Given the description of an element on the screen output the (x, y) to click on. 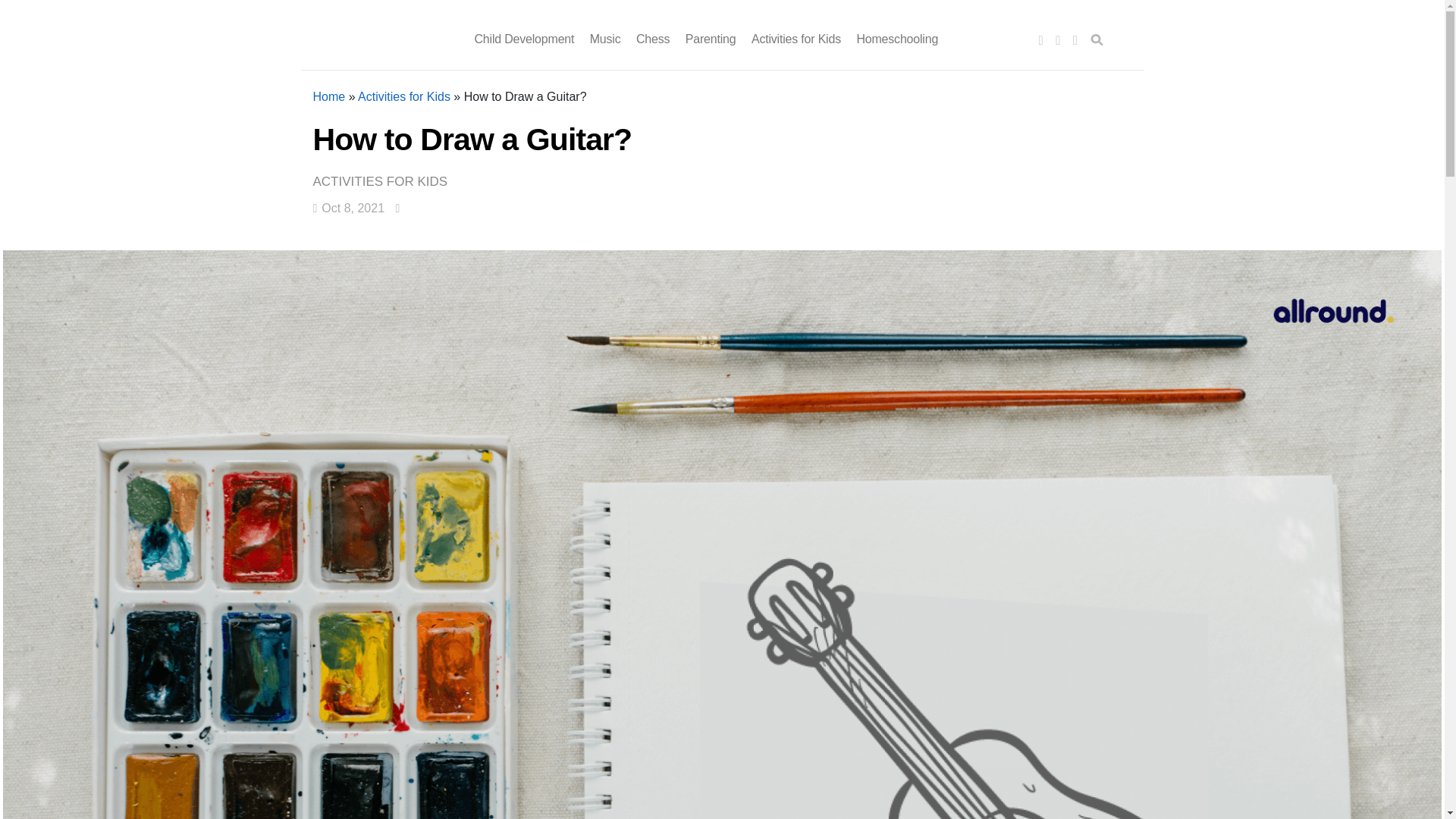
Activities for Kids (403, 96)
Home (329, 96)
ACTIVITIES FOR KIDS (383, 181)
Homeschooling (896, 38)
Parenting (710, 38)
Chess (652, 38)
Activities for Kids (383, 181)
Activities for Kids (796, 38)
Child Development (524, 38)
Music (605, 38)
